Given the description of an element on the screen output the (x, y) to click on. 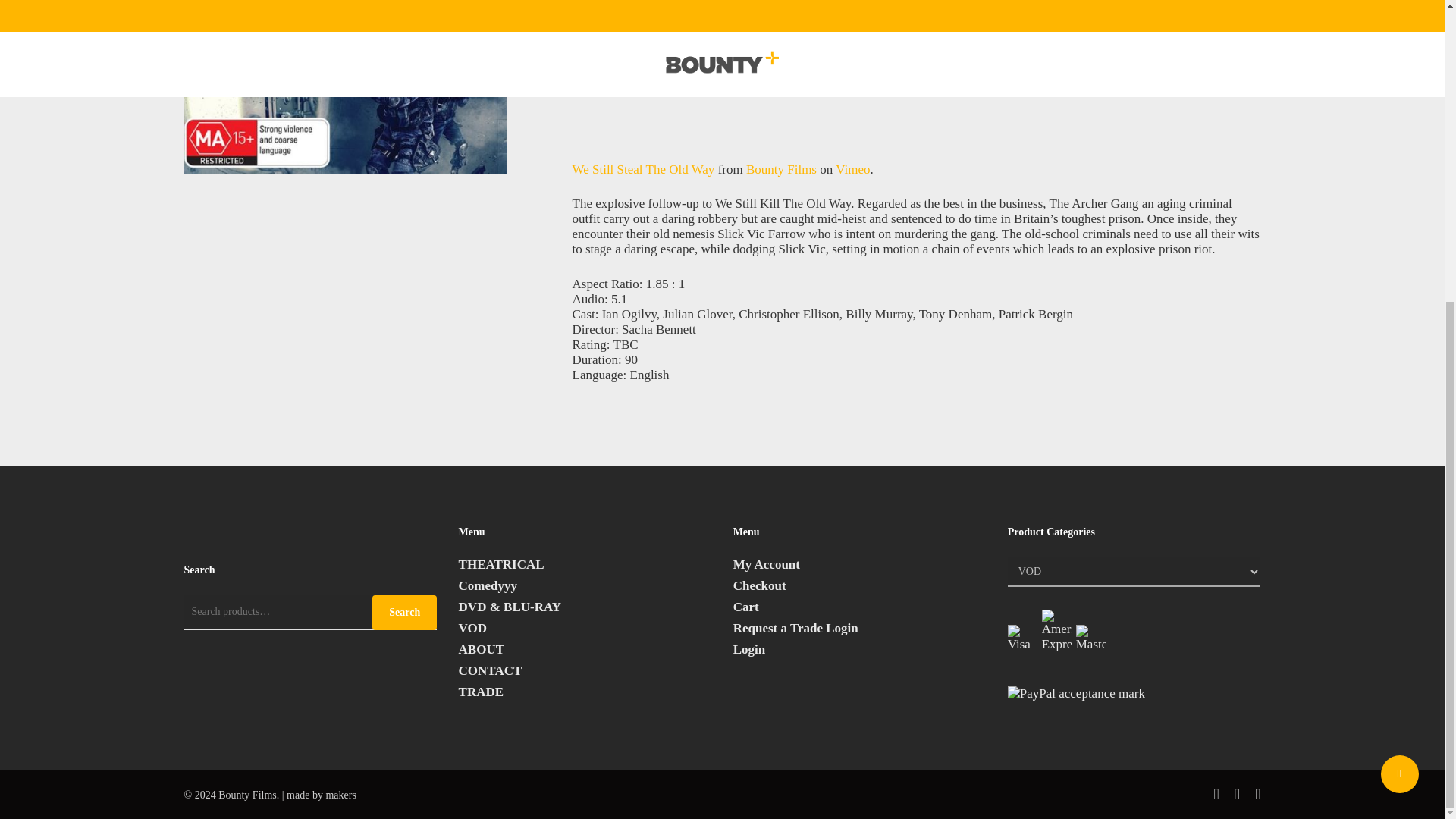
Bounty Films (780, 169)
Vimeo (852, 169)
We Still Steal The Old Way (643, 169)
